Given the description of an element on the screen output the (x, y) to click on. 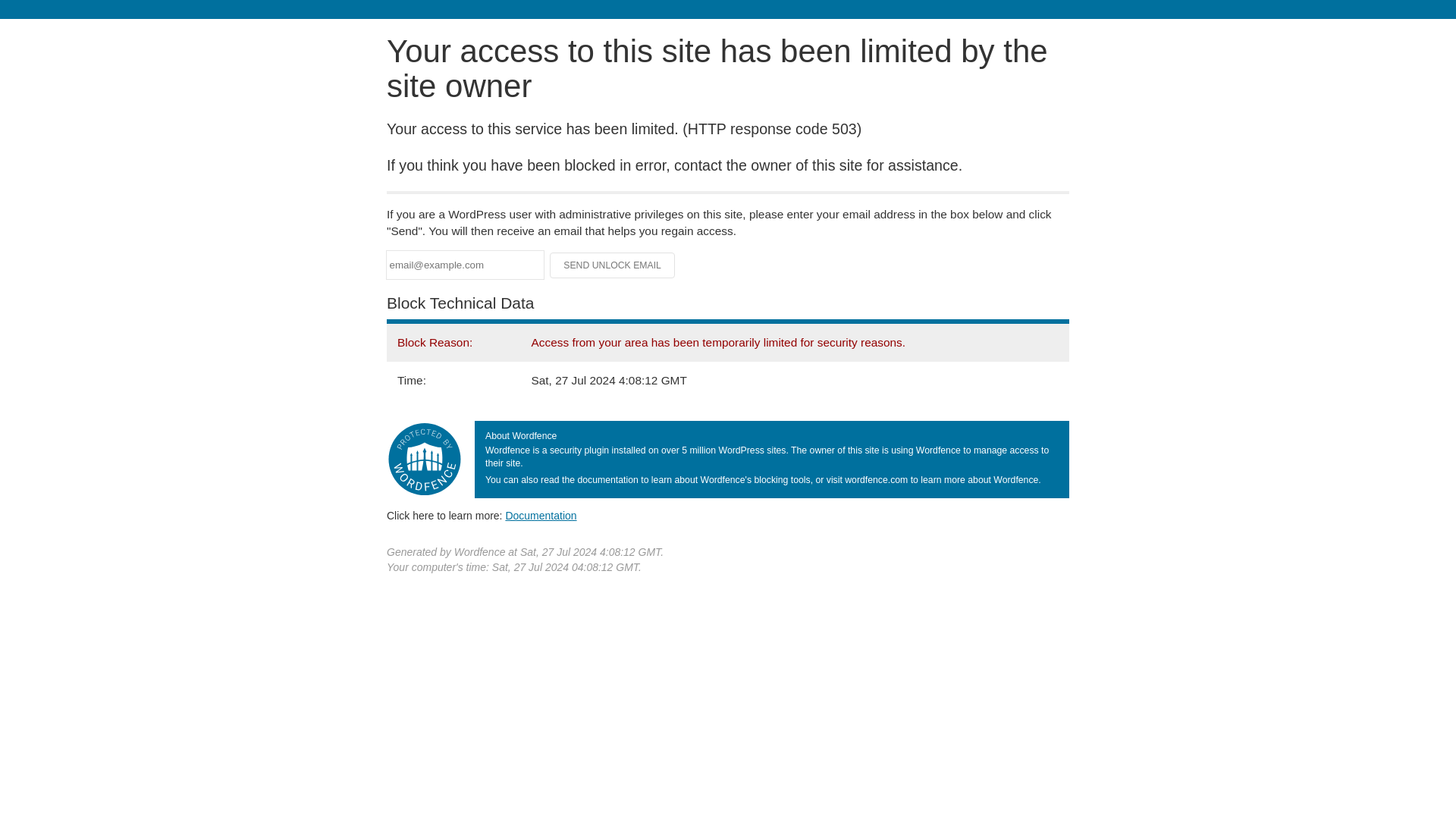
Documentation (540, 515)
Send Unlock Email (612, 265)
Send Unlock Email (612, 265)
